Given the description of an element on the screen output the (x, y) to click on. 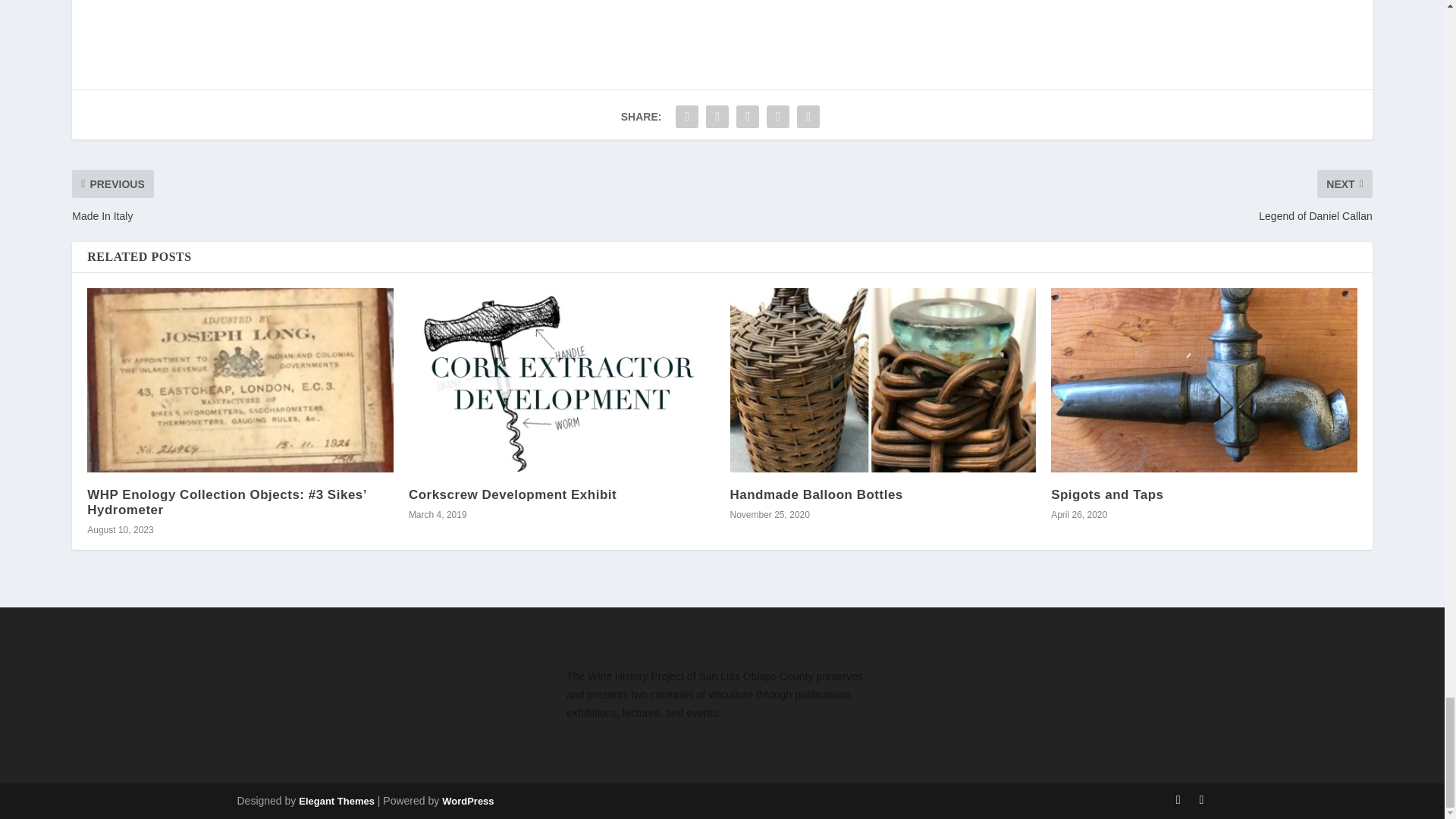
Share "AAA Mapping Tourism in California" via Twitter (716, 116)
Share "AAA Mapping Tourism in California" via Facebook (686, 116)
Share "AAA Mapping Tourism in California" via Pinterest (747, 116)
Share "AAA Mapping Tourism in California" via Email (777, 116)
